Given the description of an element on the screen output the (x, y) to click on. 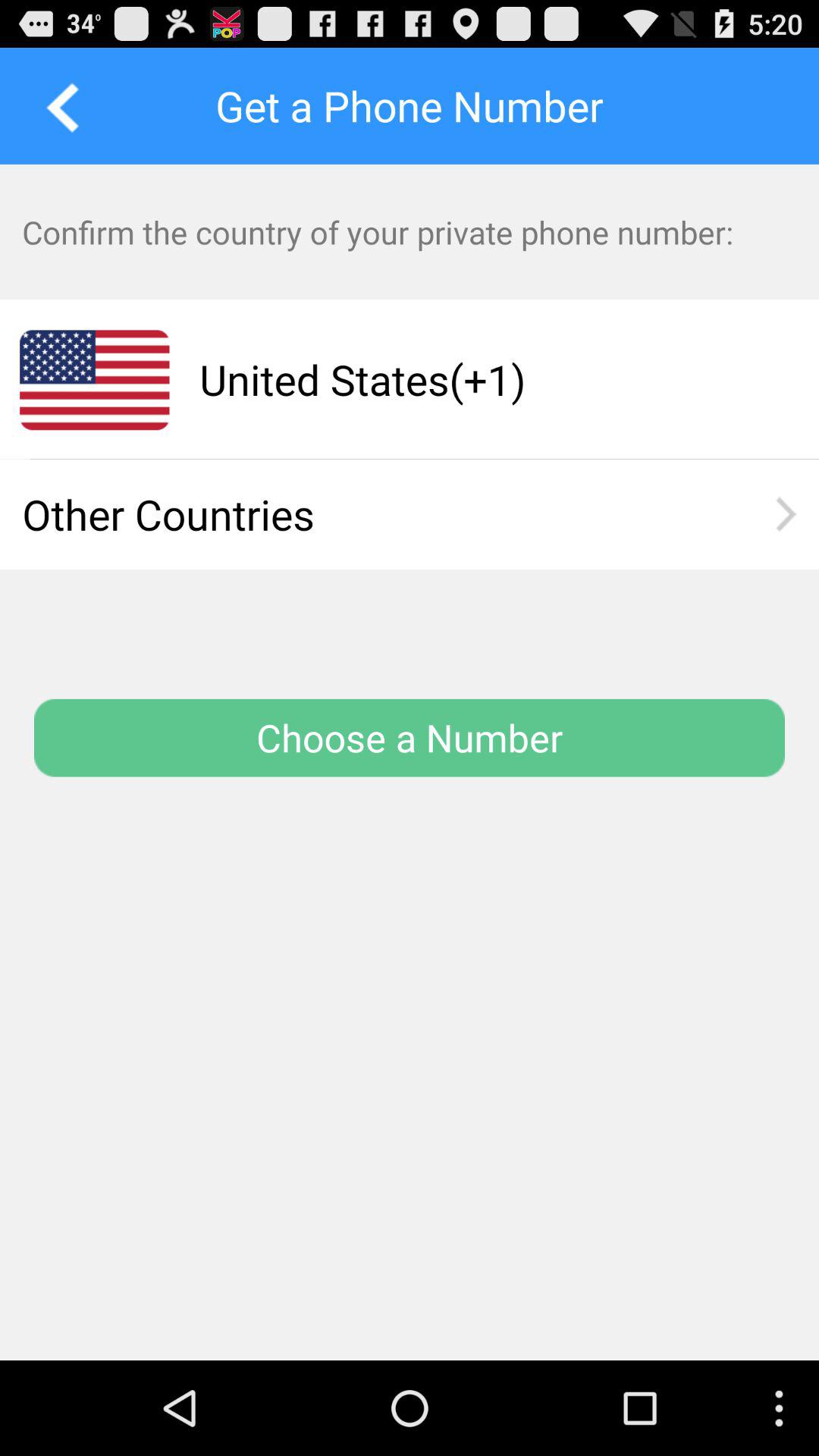
go back to contacts (57, 105)
